Given the description of an element on the screen output the (x, y) to click on. 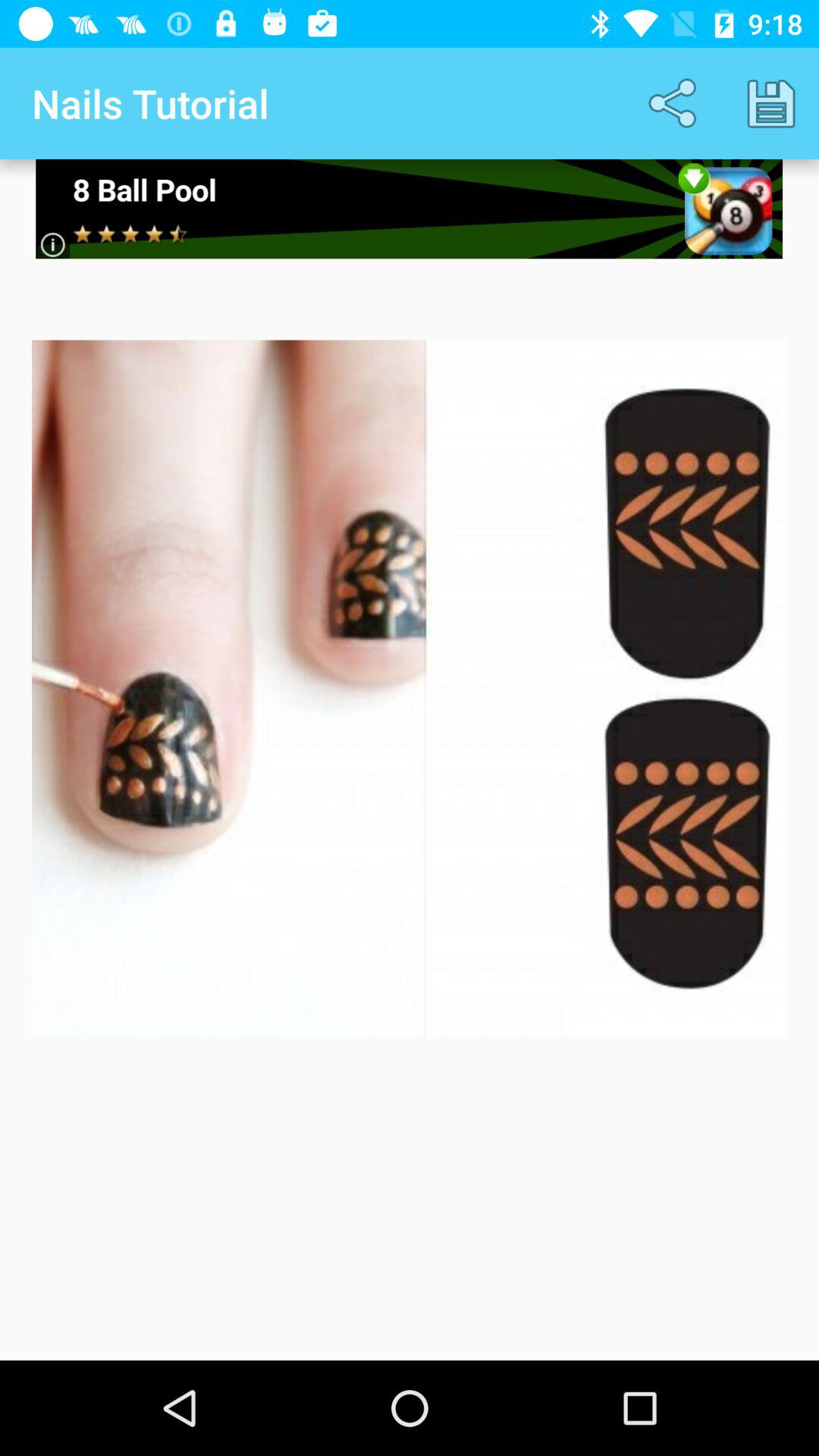
launch the item to the right of nails tutorial item (675, 103)
